Given the description of an element on the screen output the (x, y) to click on. 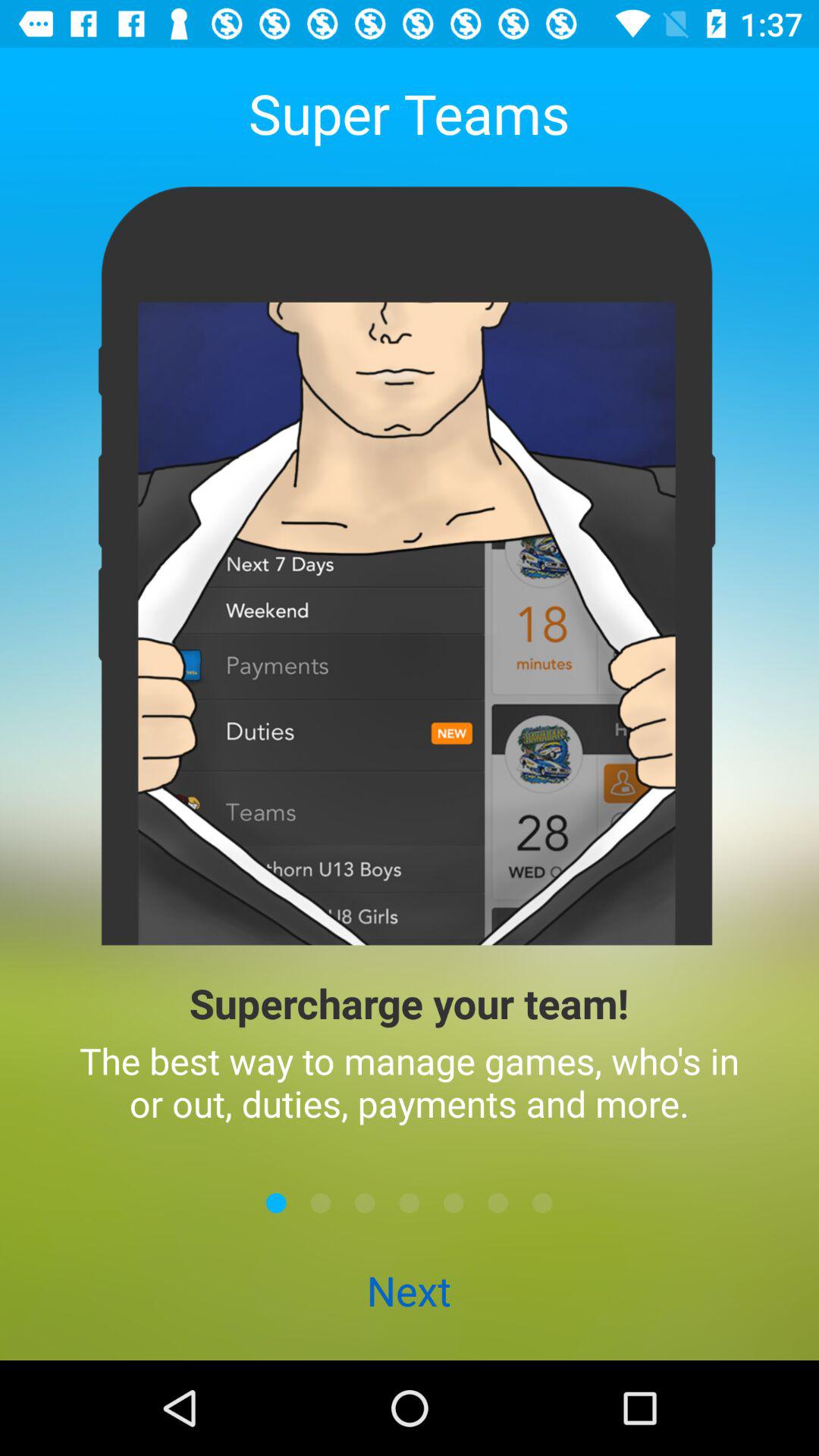
press the next icon (409, 1292)
